Given the description of an element on the screen output the (x, y) to click on. 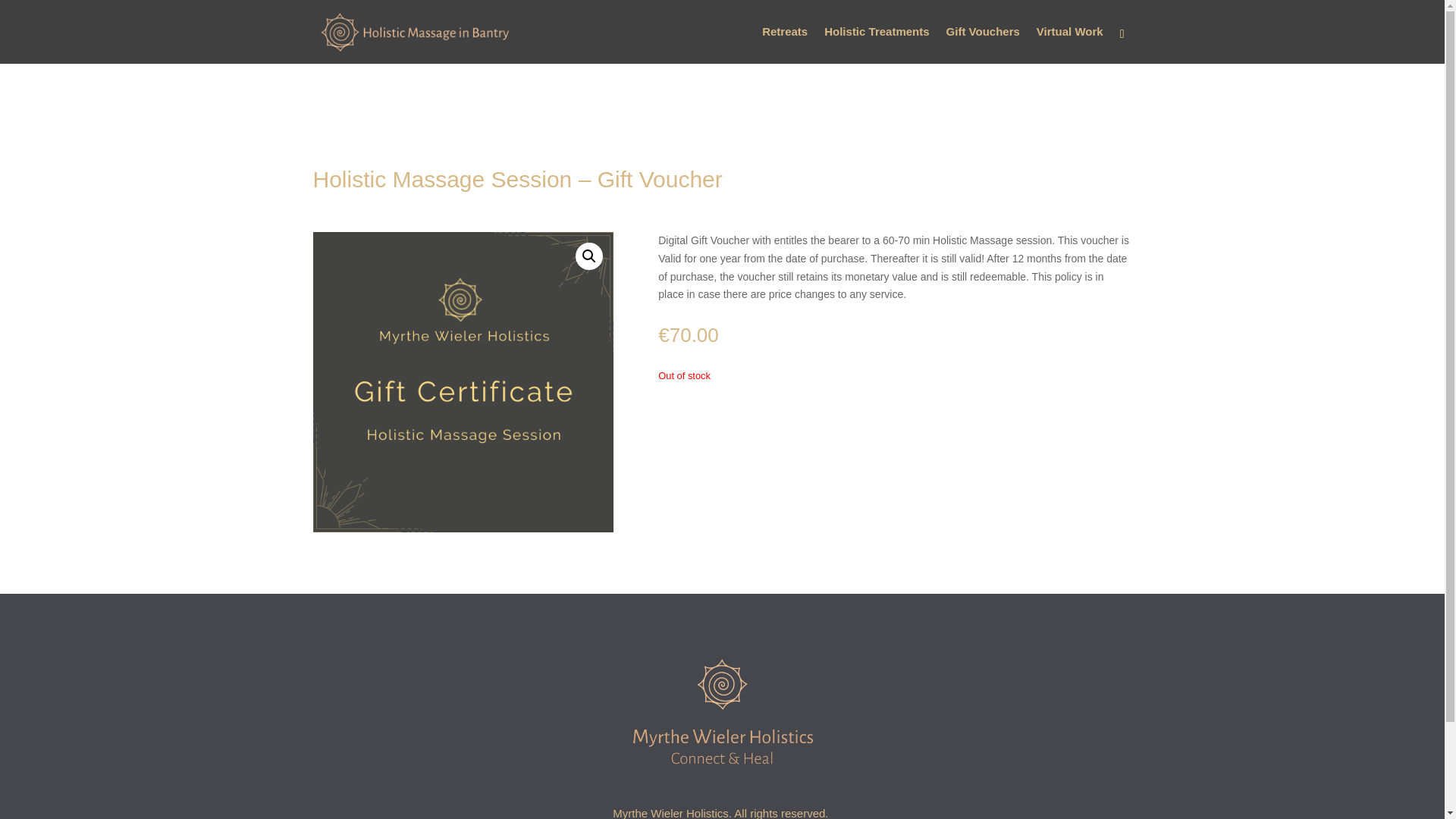
Virtual Work (1069, 44)
Charcoal Square Industrial Logo (462, 381)
Gift Vouchers (983, 44)
Retreats (784, 44)
Holistic Treatments (876, 44)
MWHM-Logo-Central (721, 716)
